Given the description of an element on the screen output the (x, y) to click on. 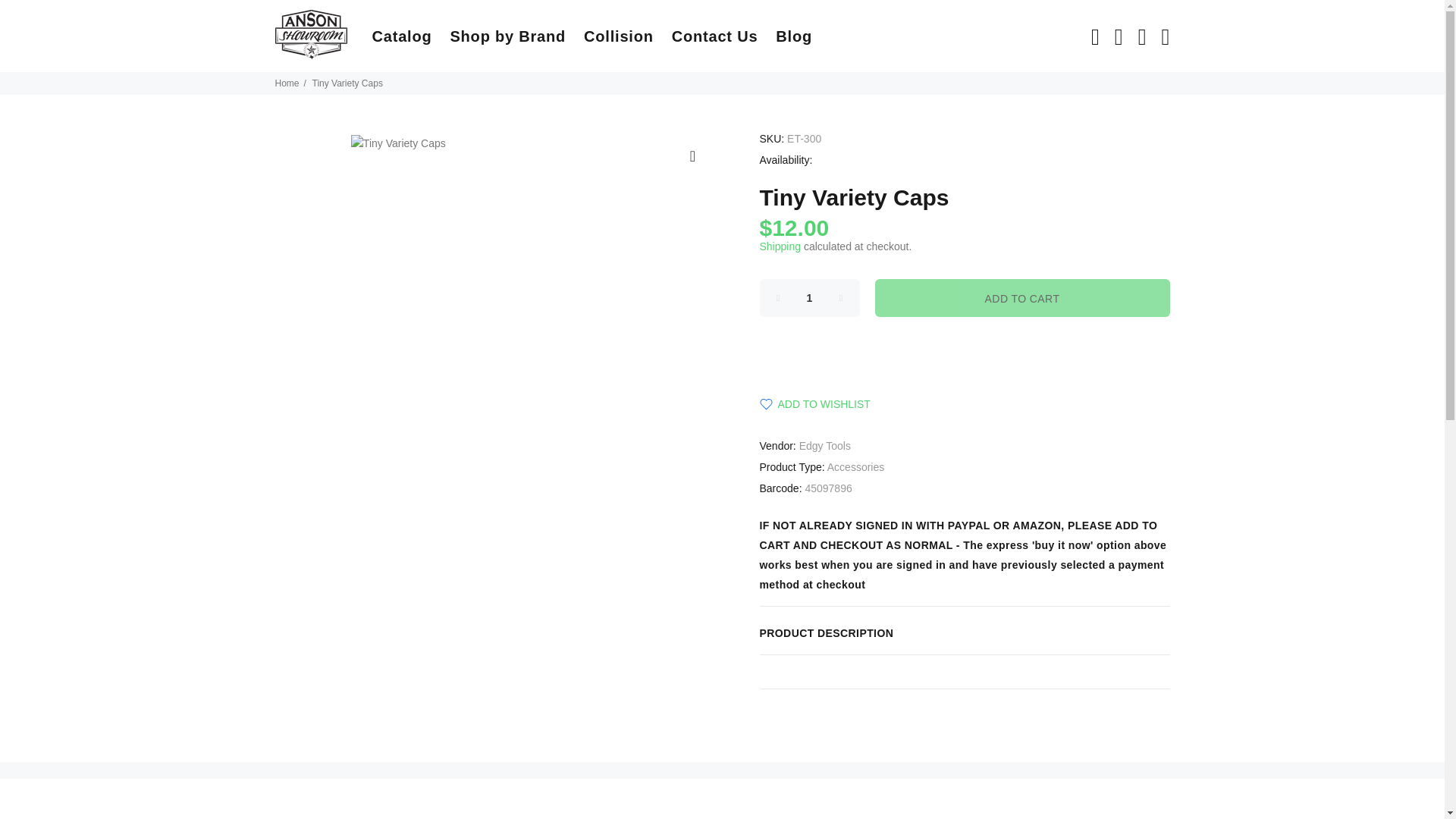
1 (810, 297)
Social Login Google One Tap (1285, 121)
